Given the description of an element on the screen output the (x, y) to click on. 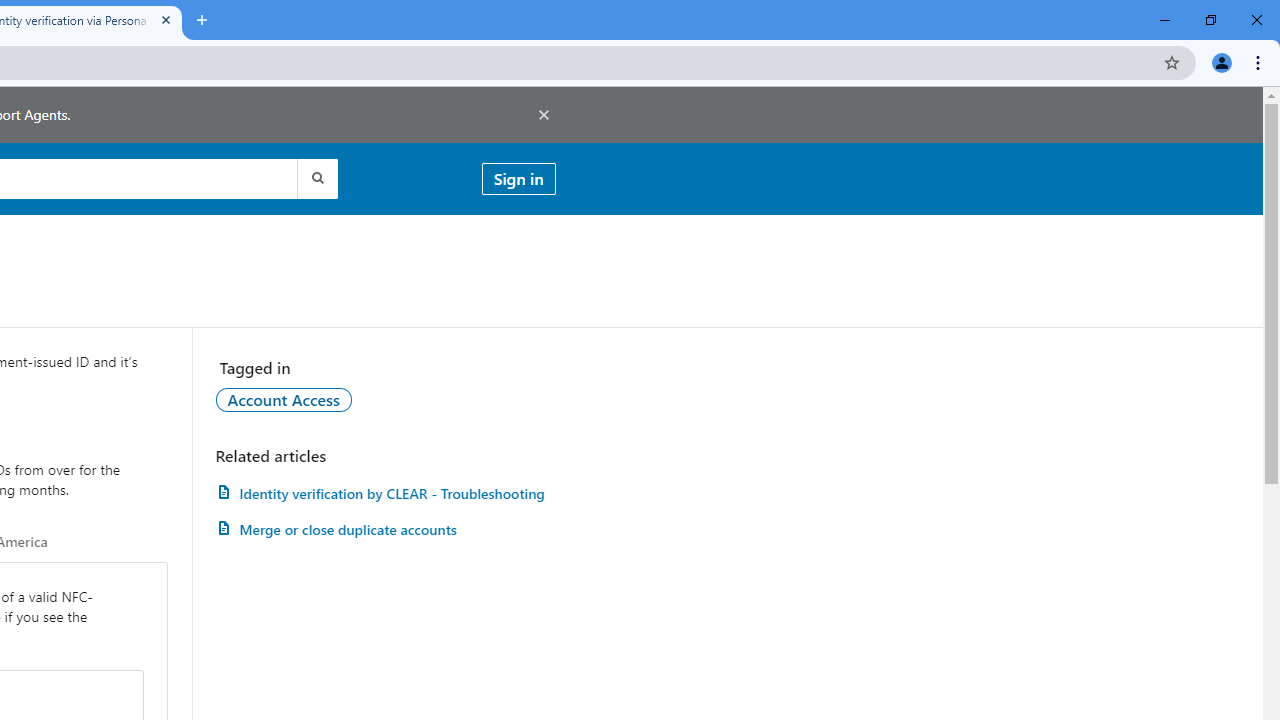
AutomationID: article-link-a1337200 (385, 529)
